Given the description of an element on the screen output the (x, y) to click on. 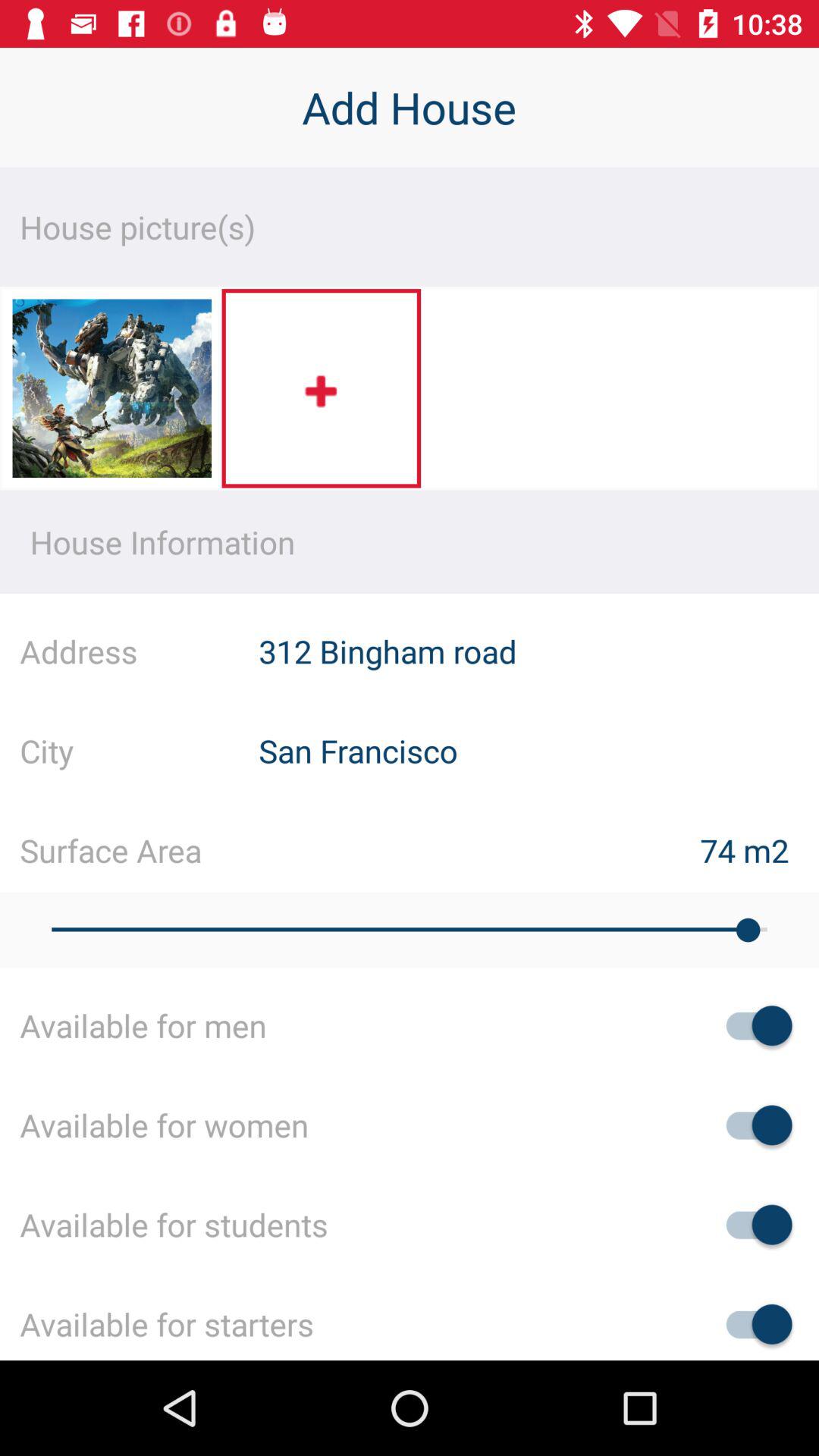
switch available for students option (751, 1224)
